Given the description of an element on the screen output the (x, y) to click on. 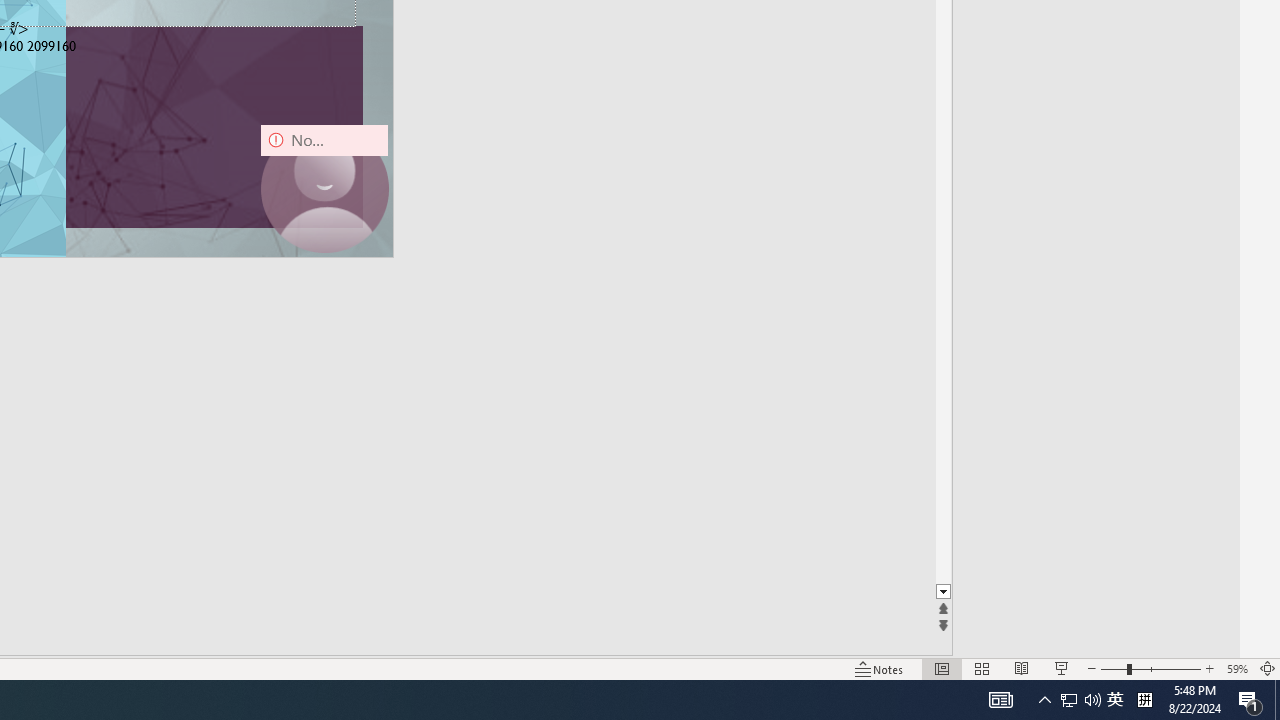
Zoom 59% (1236, 668)
Camera 16, No camera detected. (324, 188)
